Given the description of an element on the screen output the (x, y) to click on. 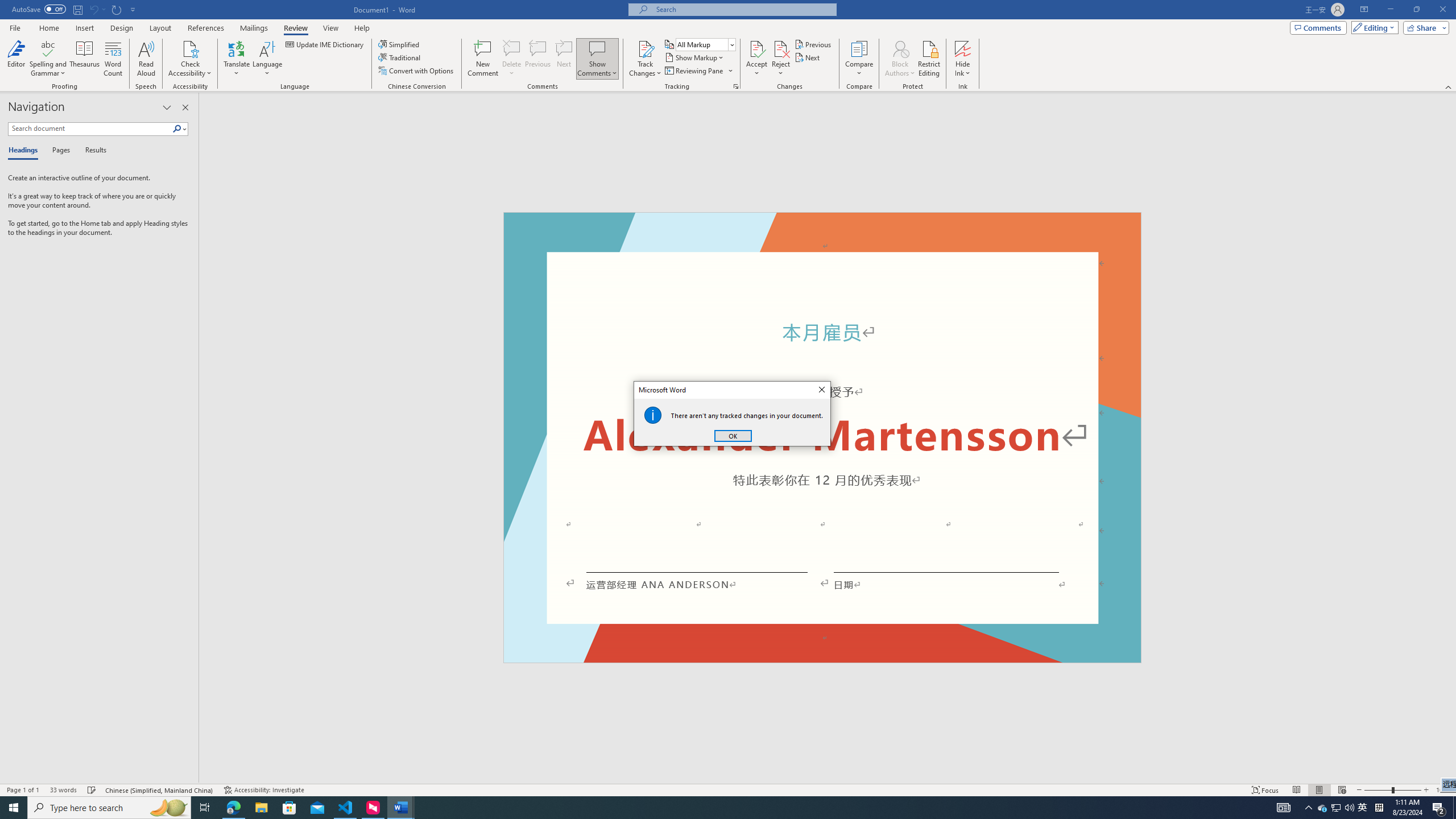
Track Changes (644, 58)
Spelling and Grammar (48, 58)
Language (267, 58)
OK (732, 435)
AutomationID: 4105 (1283, 807)
Type here to search (108, 807)
Show Comments (597, 58)
Running applications (700, 807)
Convert with Options... (417, 69)
User Promoted Notification Area (1336, 807)
